Given the description of an element on the screen output the (x, y) to click on. 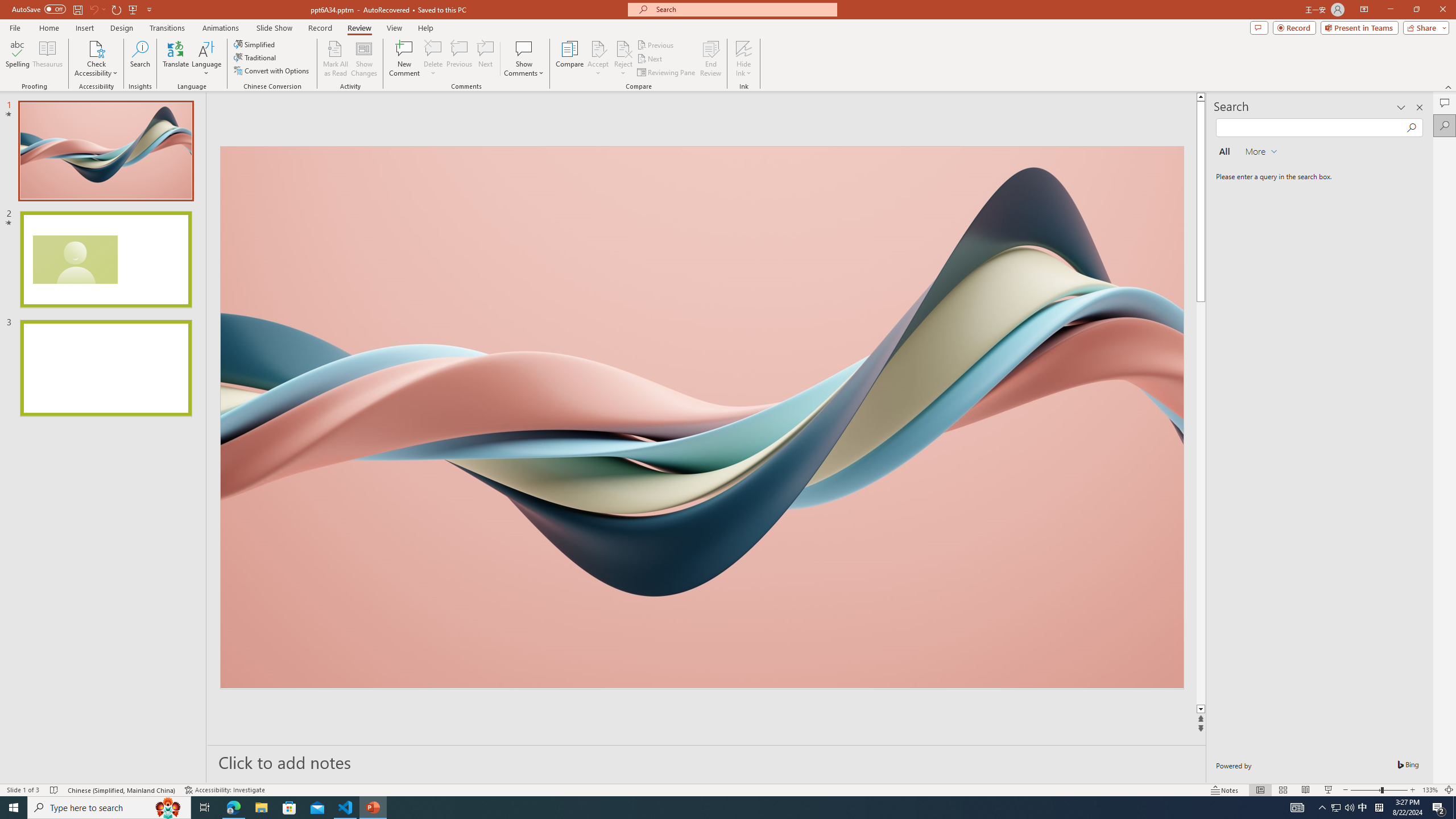
Reviewing Pane (666, 72)
Compare (569, 58)
Translate (175, 58)
Reject (622, 58)
